Given the description of an element on the screen output the (x, y) to click on. 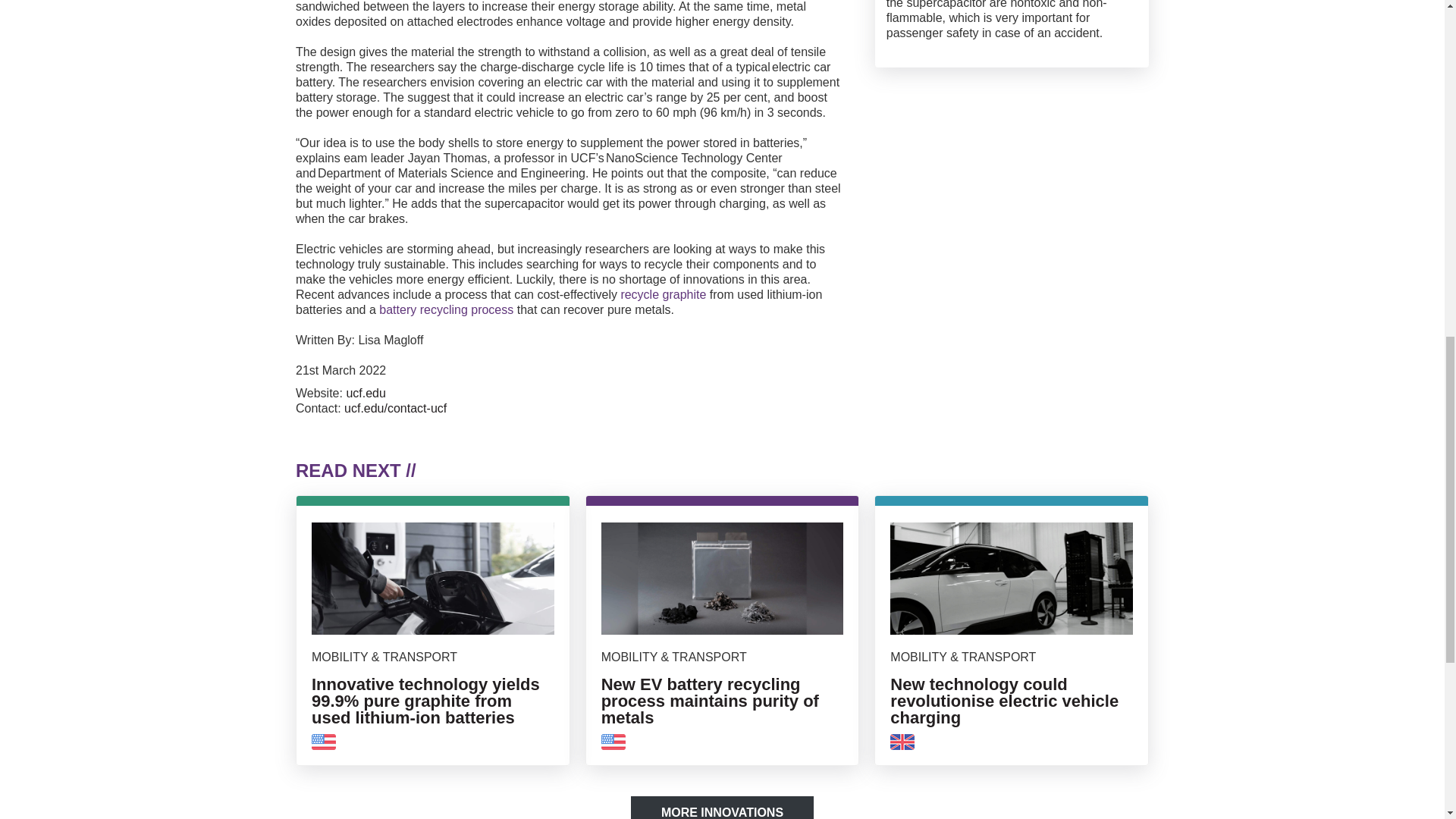
battery recycling process (445, 309)
recycle graphite (663, 294)
ucf.edu (365, 392)
MORE INNOVATIONS (721, 807)
